Given the description of an element on the screen output the (x, y) to click on. 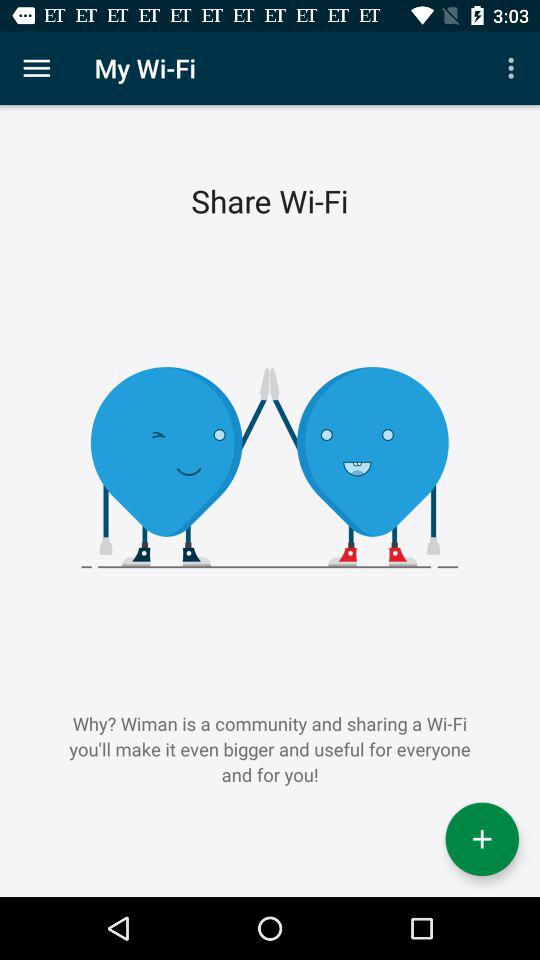
open icon to the right of my wi-fi item (513, 67)
